Given the description of an element on the screen output the (x, y) to click on. 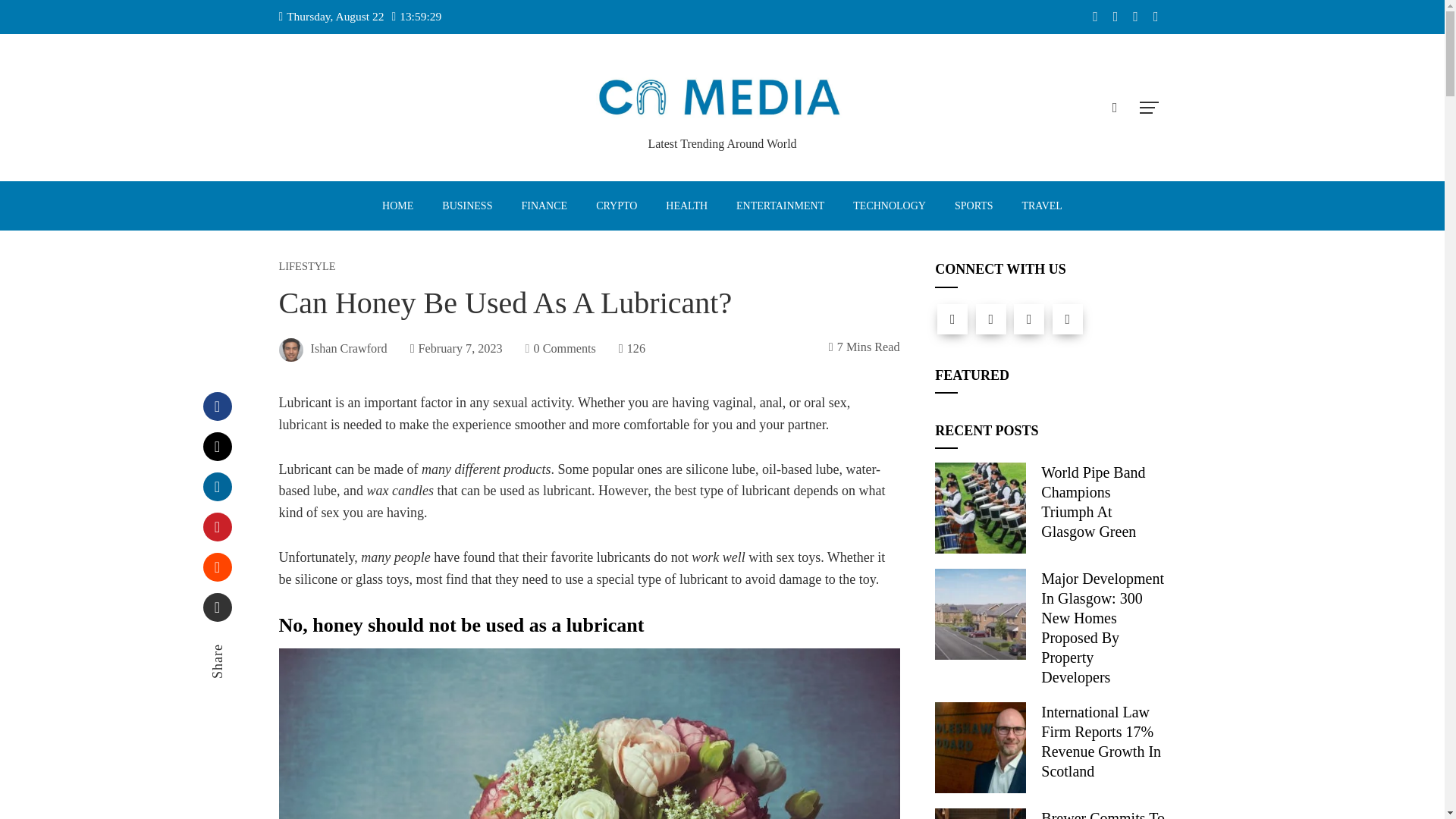
BUSINESS (466, 205)
FINANCE (543, 205)
CRYPTO (616, 205)
Facebook (217, 406)
Twitter (990, 318)
Instagram (1028, 318)
HOME (397, 205)
Latest Trending Around World (721, 143)
Stumbleupon (217, 566)
TRAVEL (1041, 205)
